Given the description of an element on the screen output the (x, y) to click on. 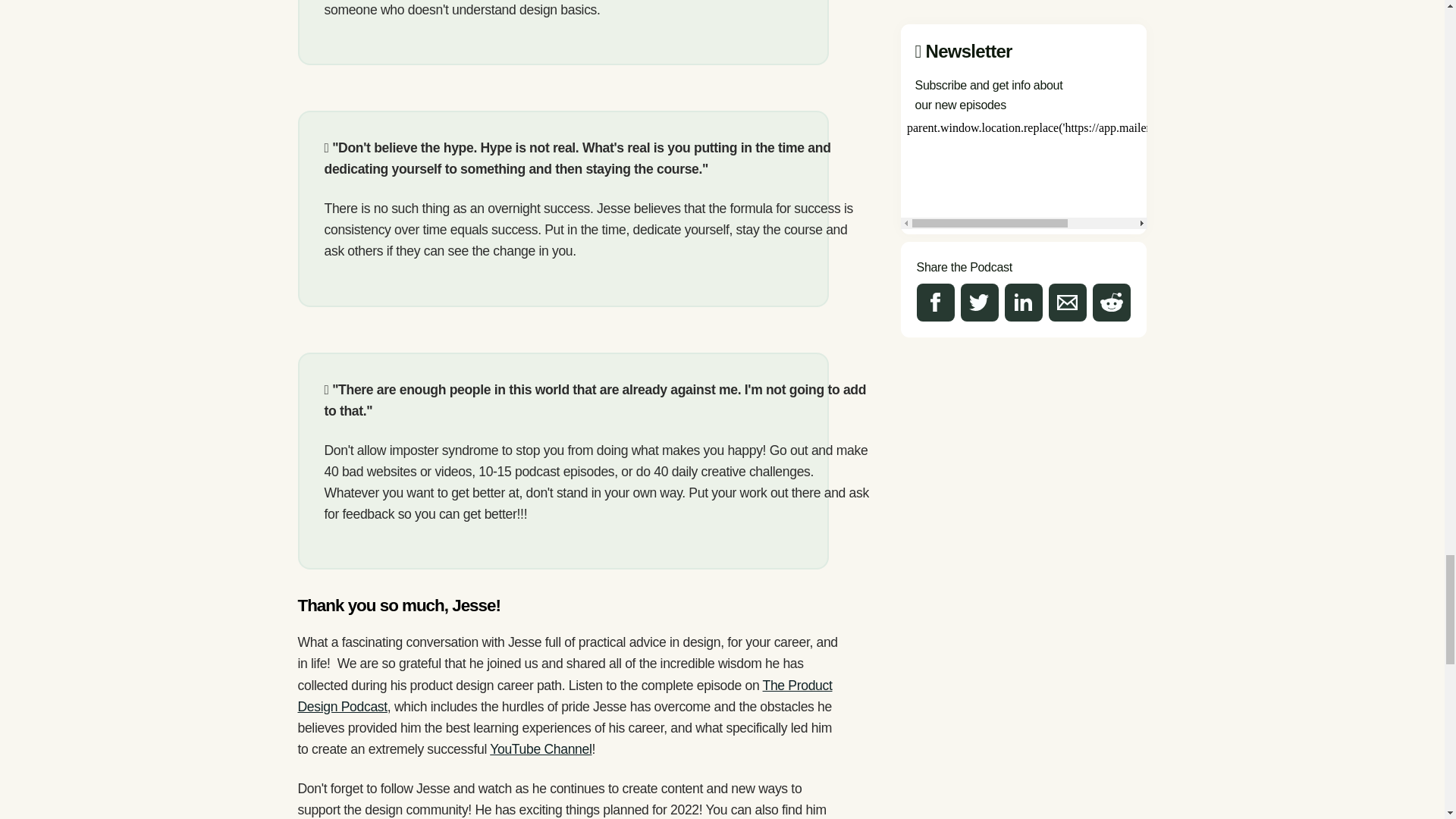
The Product Design Podcast (564, 696)
YouTube Channel (540, 749)
